Given the description of an element on the screen output the (x, y) to click on. 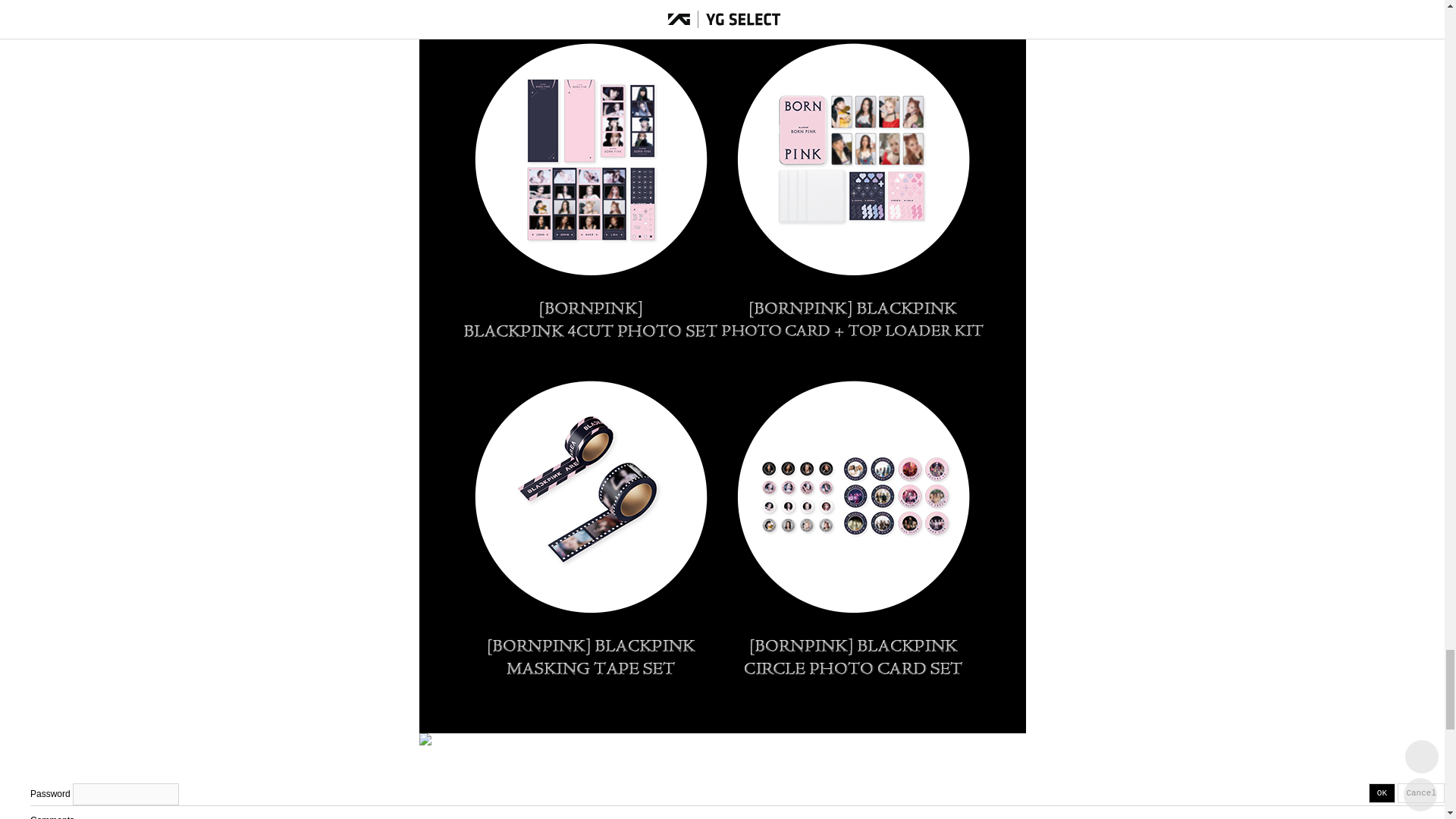
OK (1381, 792)
